Given the description of an element on the screen output the (x, y) to click on. 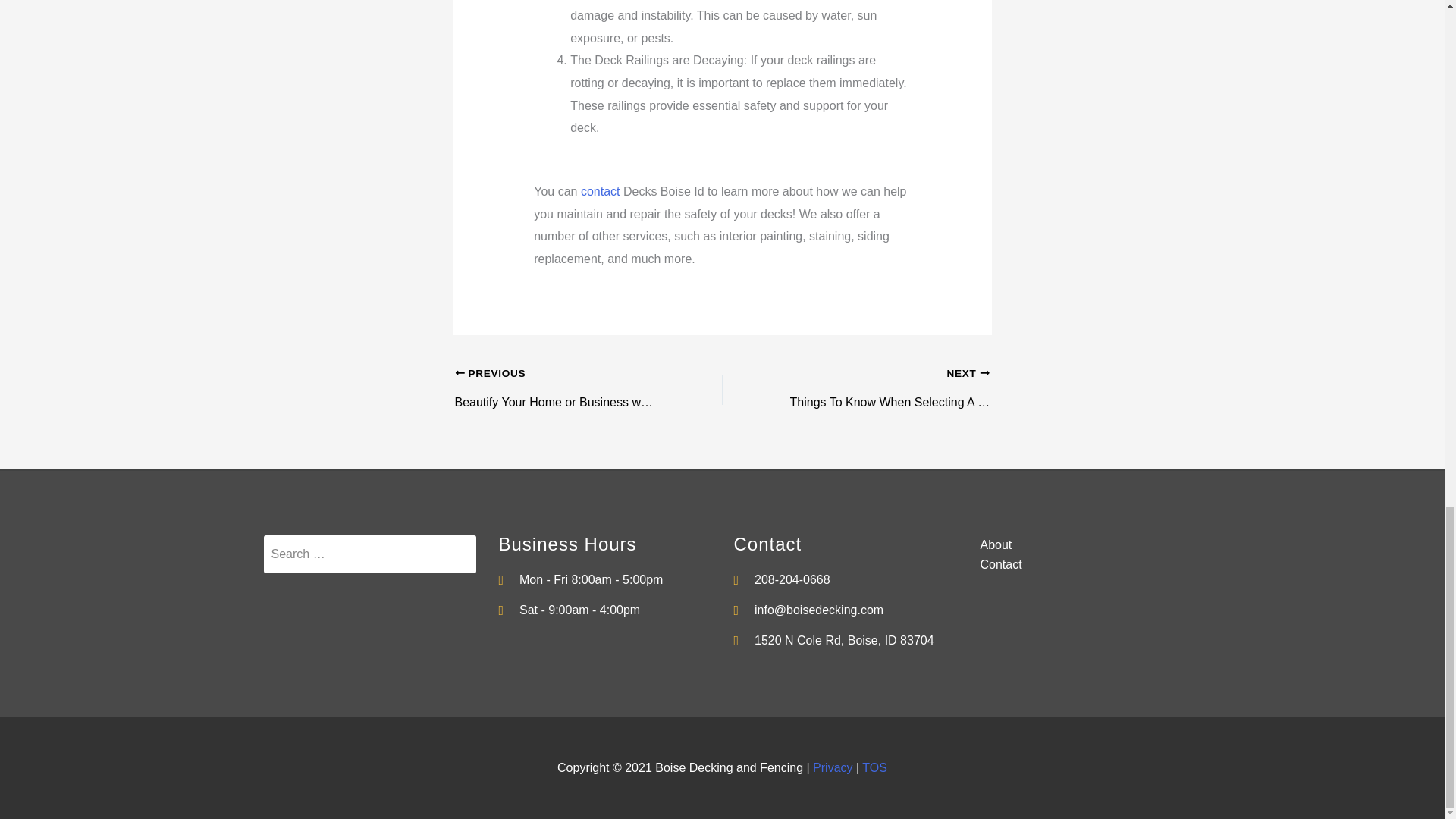
Beautify Your Home or Business with a New Fence in Boise Id (561, 375)
About (1074, 545)
contact (600, 191)
TOS (873, 767)
208-204-0668 (839, 579)
Contact (1074, 564)
Search (369, 554)
